Given the description of an element on the screen output the (x, y) to click on. 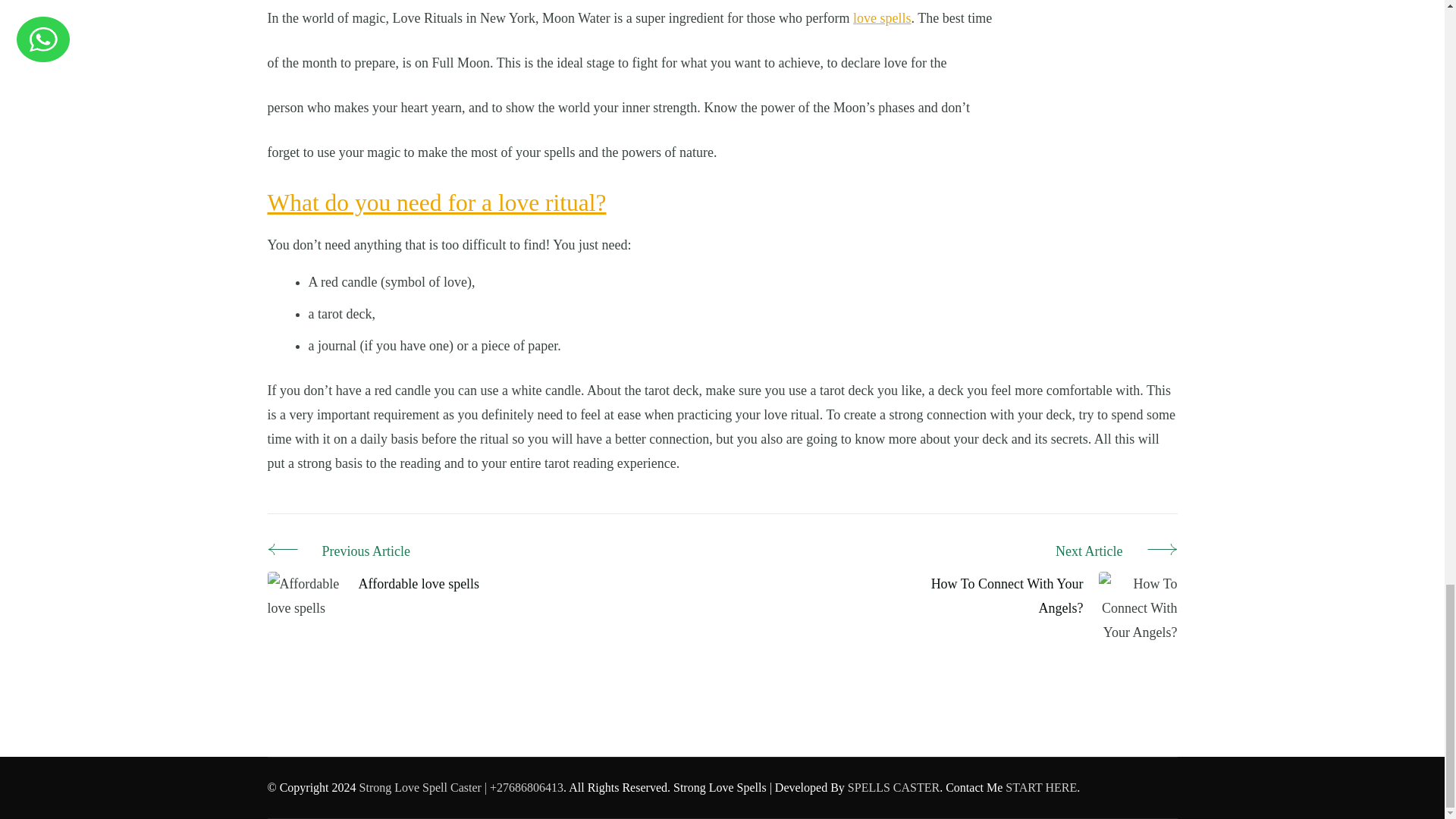
love spells (882, 17)
SPELLS CASTER (893, 787)
START HERE (1041, 787)
Previous Article (372, 551)
Next Article (1044, 551)
What do you need for a love ritual? (435, 202)
